Given the description of an element on the screen output the (x, y) to click on. 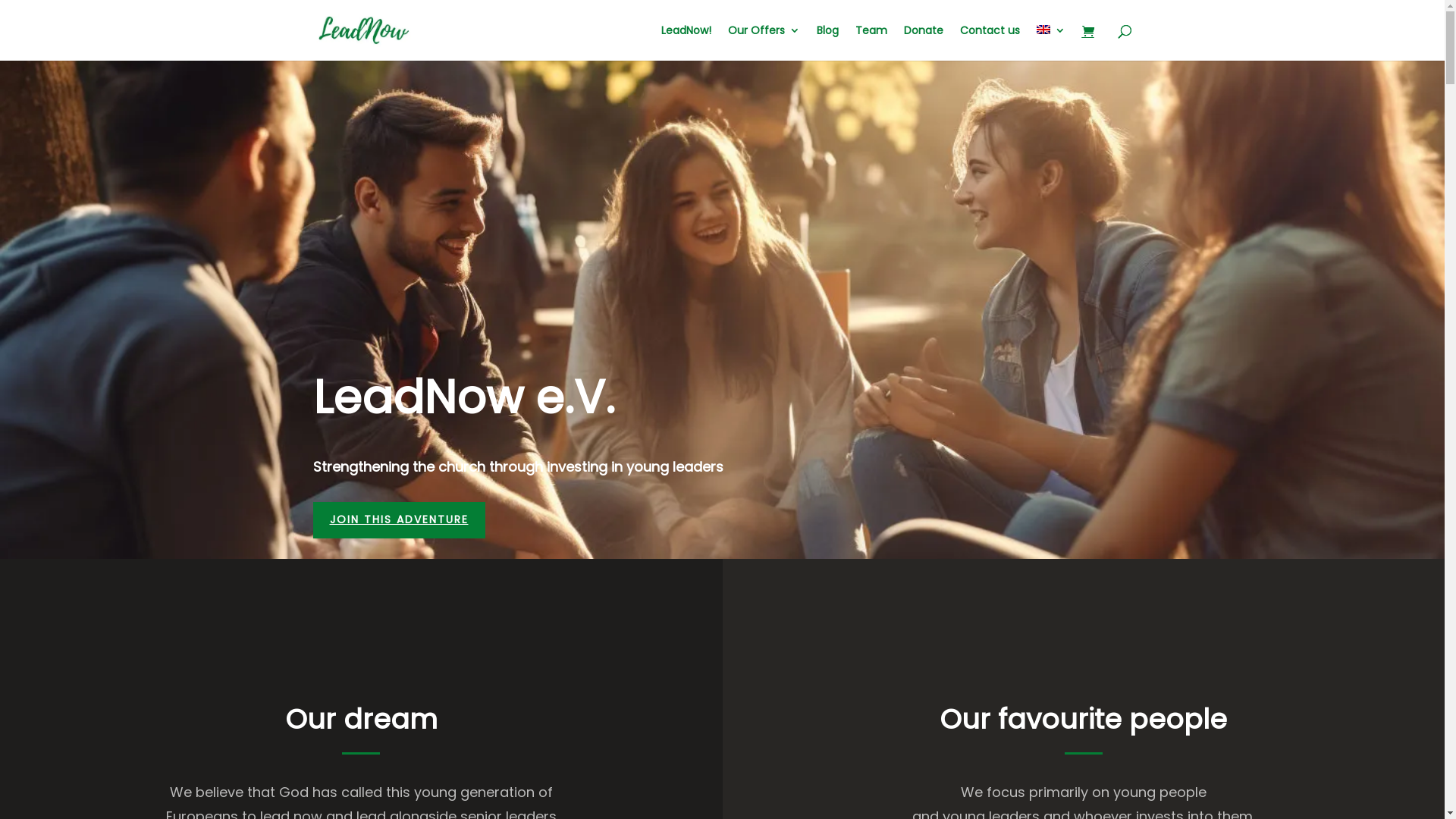
JOIN THIS ADVENTURE Element type: text (398, 520)
Contact us Element type: text (989, 42)
Blog Element type: text (826, 42)
Donate Element type: text (923, 42)
Team Element type: text (871, 42)
Our Offers Element type: text (764, 42)
LeadNow! Element type: text (686, 42)
